Given the description of an element on the screen output the (x, y) to click on. 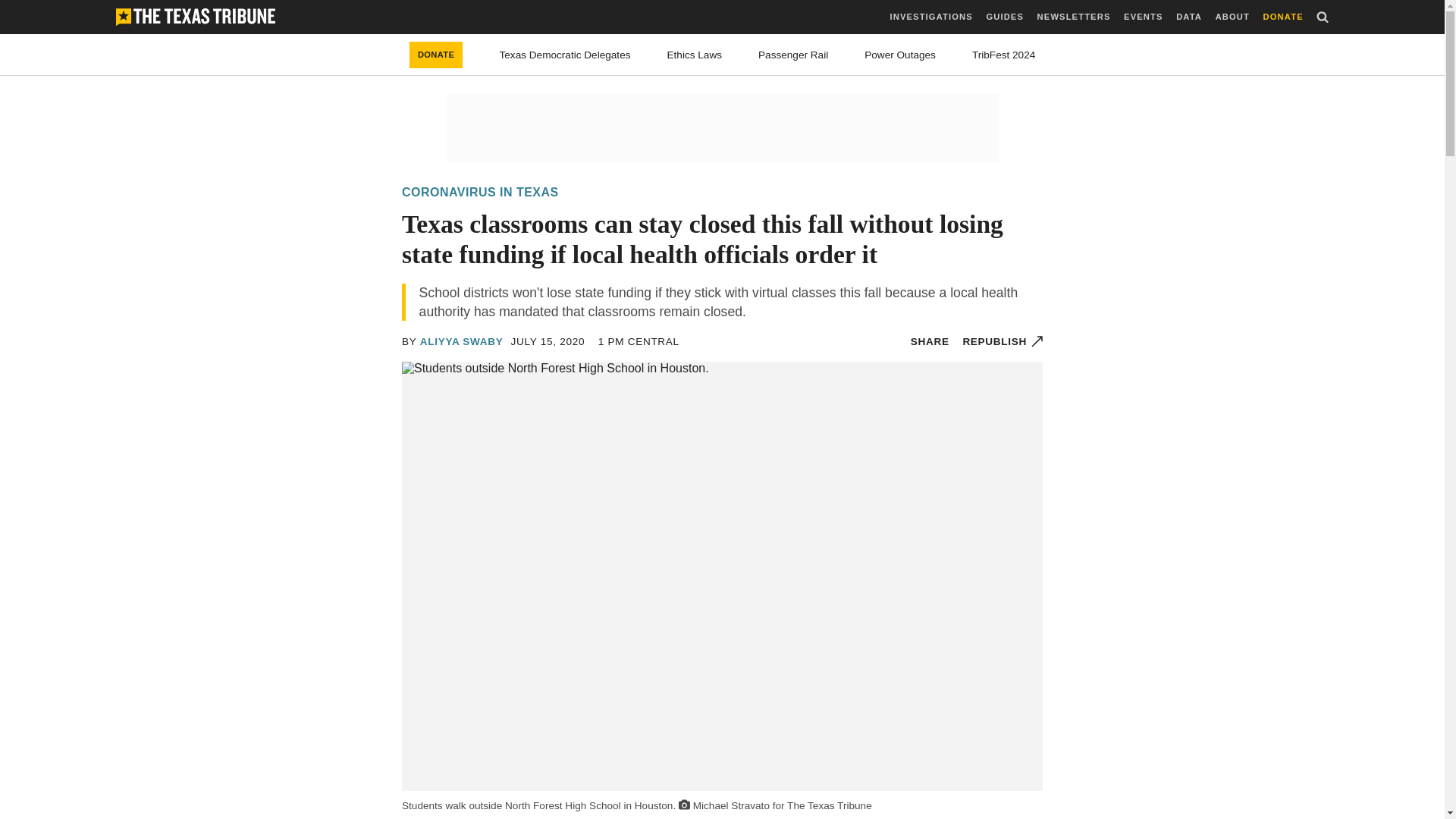
Ethics Laws (694, 54)
DONATE (1283, 17)
ABOUT (1232, 17)
DATA (1189, 17)
DONATE (436, 54)
2020-07-15 13:03 CDT (638, 341)
TribFest 2024 (1003, 54)
REPUBLISH (1002, 341)
EVENTS (1142, 17)
2020-07-15 13:03 CDT (548, 341)
ALIYYA SWABY (461, 341)
INVESTIGATIONS (930, 17)
Power Outages (900, 54)
GUIDES (1004, 17)
Passenger Rail (793, 54)
